Given the description of an element on the screen output the (x, y) to click on. 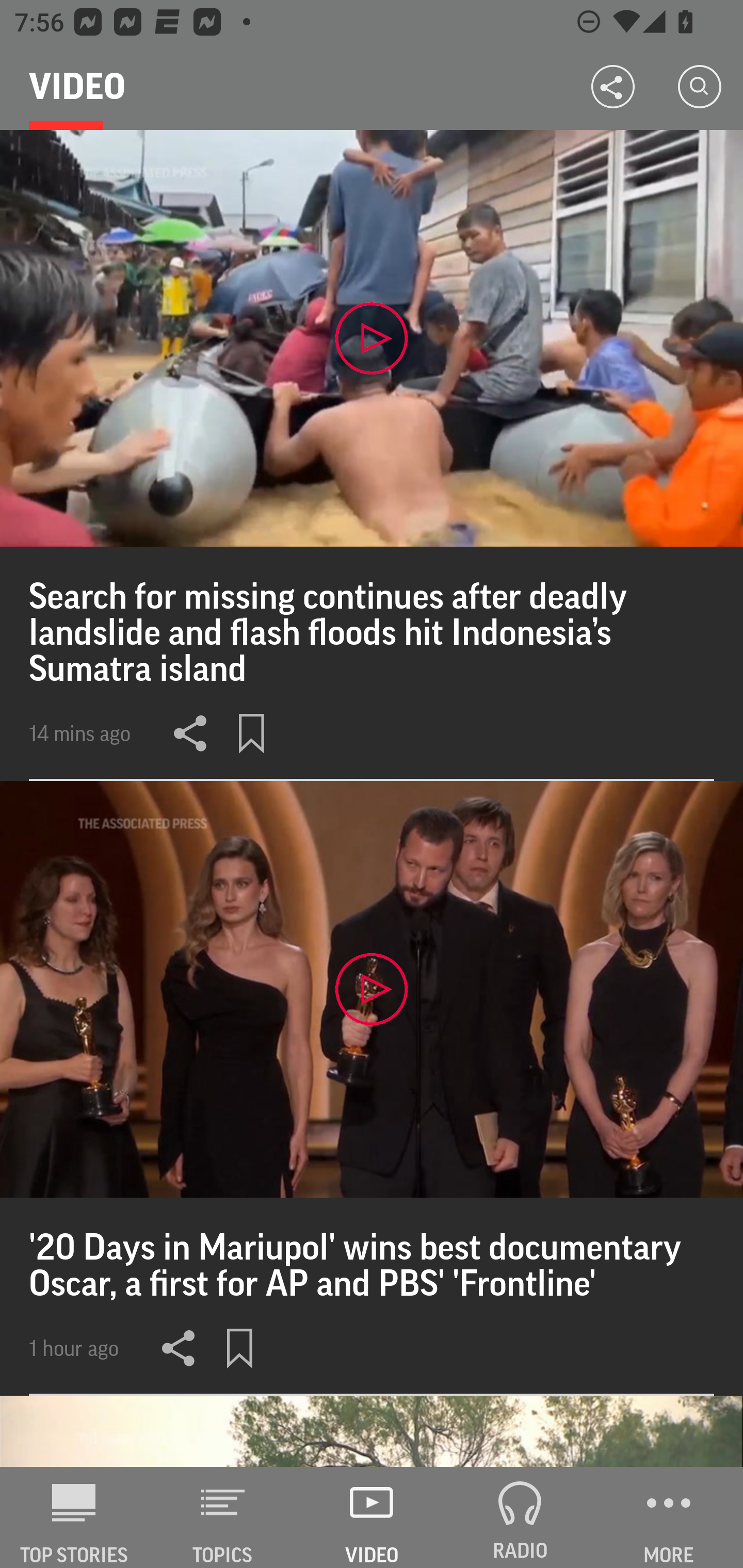
AP News TOP STORIES (74, 1517)
TOPICS (222, 1517)
VIDEO (371, 1517)
RADIO (519, 1517)
MORE (668, 1517)
